Given the description of an element on the screen output the (x, y) to click on. 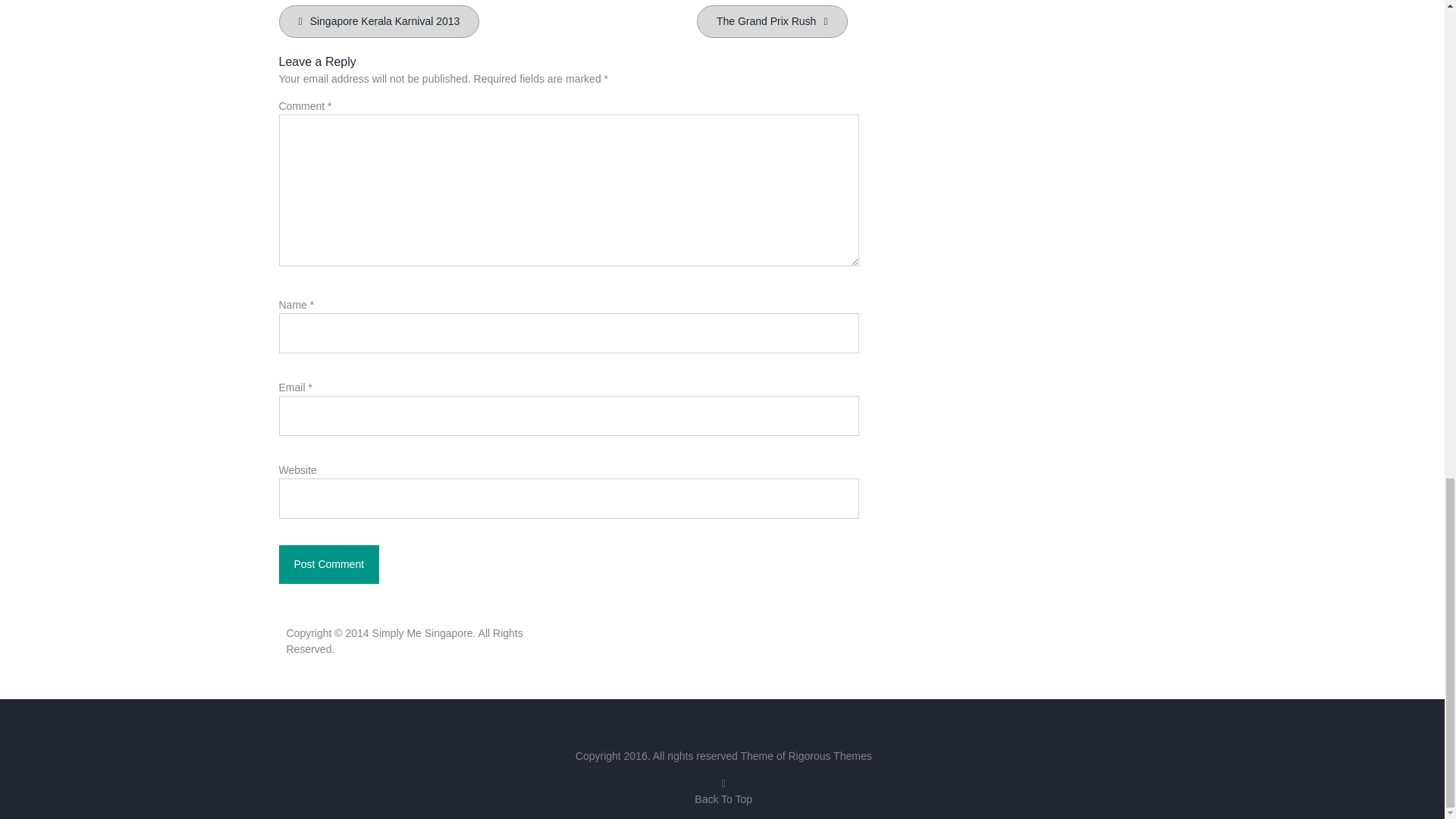
The Grand Prix Rush (772, 20)
Back To Top (723, 791)
Rigorous Themes (828, 756)
Post Comment (329, 564)
Singapore Kerala Karnival 2013 (379, 20)
Post Comment (329, 564)
